Given the description of an element on the screen output the (x, y) to click on. 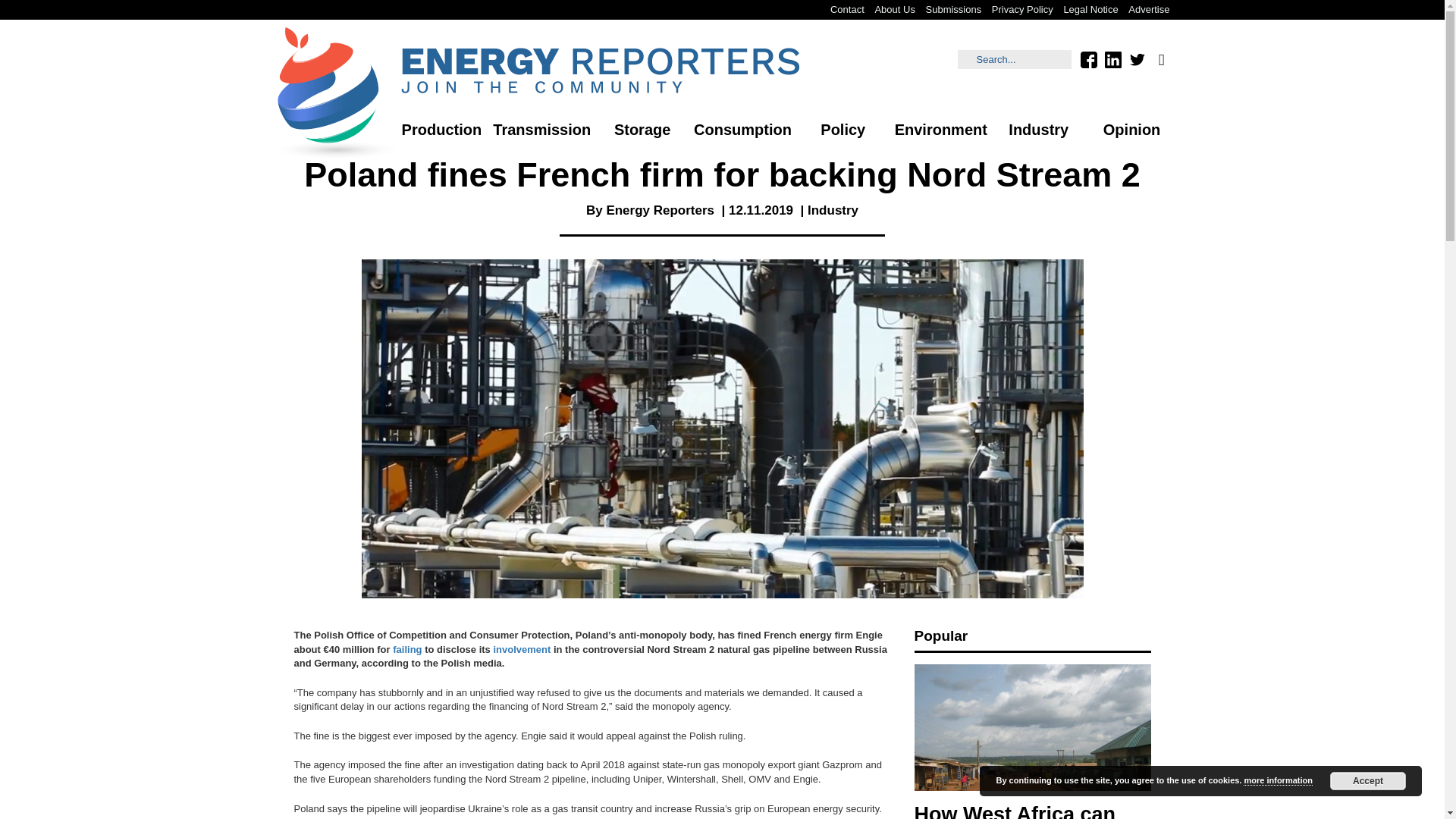
Submissions (953, 9)
RSS (1160, 59)
failing (407, 649)
Storage (641, 129)
Opinion (1131, 129)
Policy (843, 129)
12.11.2019 (761, 210)
Industry (833, 210)
RSS (1160, 59)
Facebook (1087, 59)
LinkedIn (1112, 59)
Industry (1038, 129)
About Us (894, 9)
Production (441, 129)
involvement (521, 649)
